Given the description of an element on the screen output the (x, y) to click on. 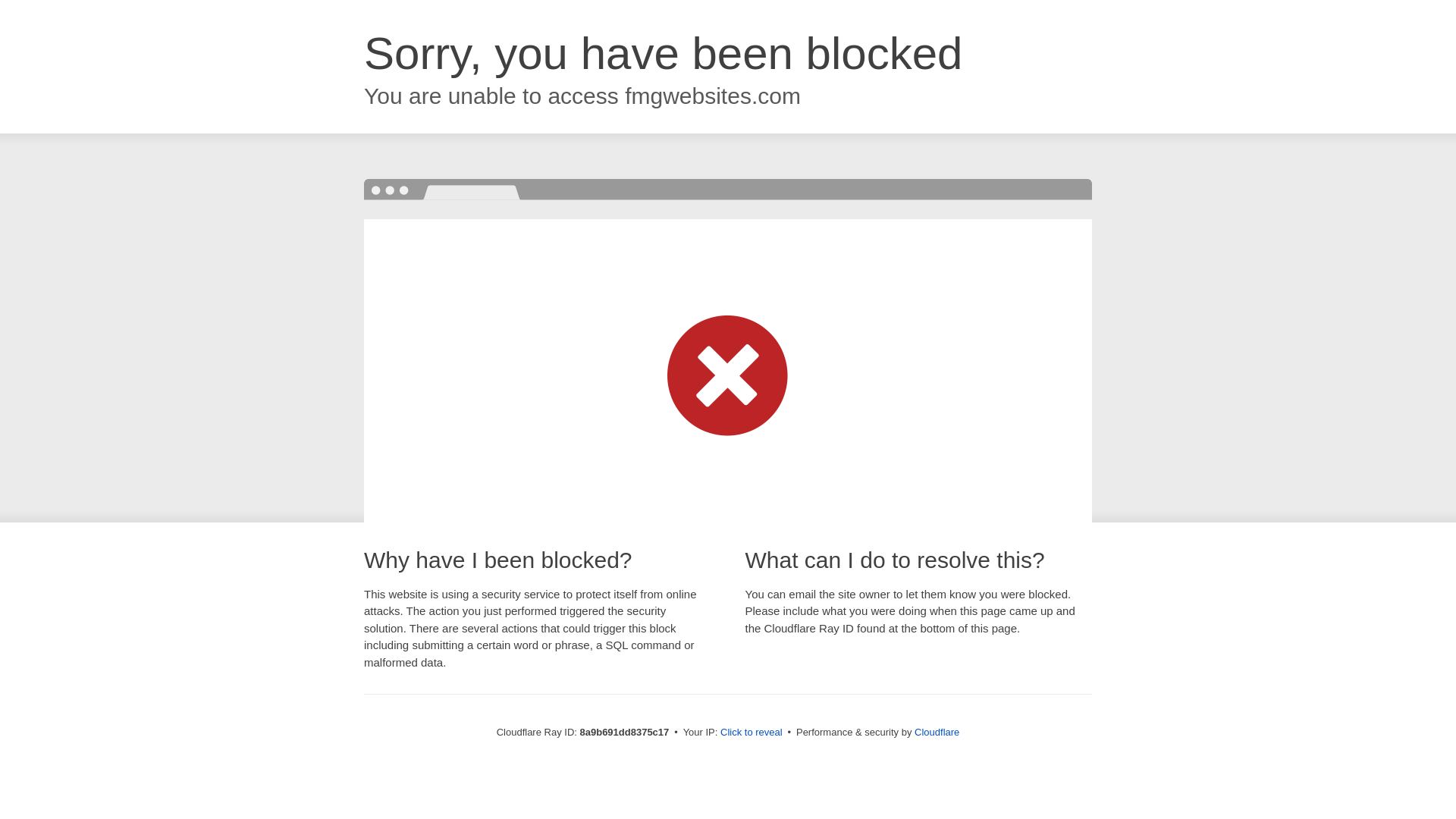
Cloudflare (936, 731)
Click to reveal (751, 732)
